Given the description of an element on the screen output the (x, y) to click on. 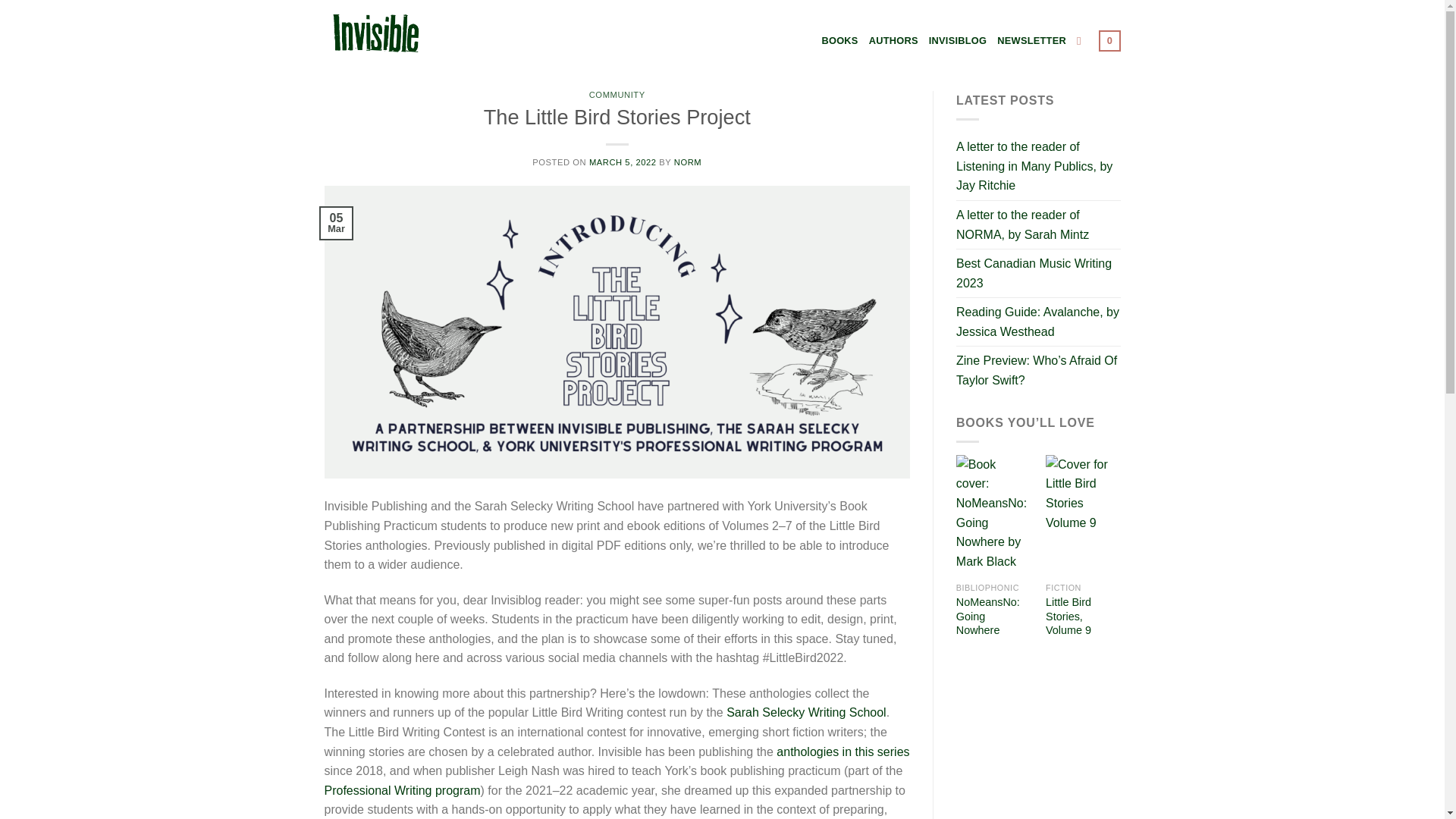
COMMUNITY (617, 94)
BOOKS (839, 40)
MARCH 5, 2022 (622, 162)
Professional Writing program (402, 789)
NEWSLETTER (1031, 40)
Invisible Publishing - Making books like you don't even know (400, 33)
Reading Guide: Avalanche, by Jessica Westhead (1038, 321)
AUTHORS (893, 40)
Best Canadian Music Writing 2023 (1038, 273)
NORM (687, 162)
